Given the description of an element on the screen output the (x, y) to click on. 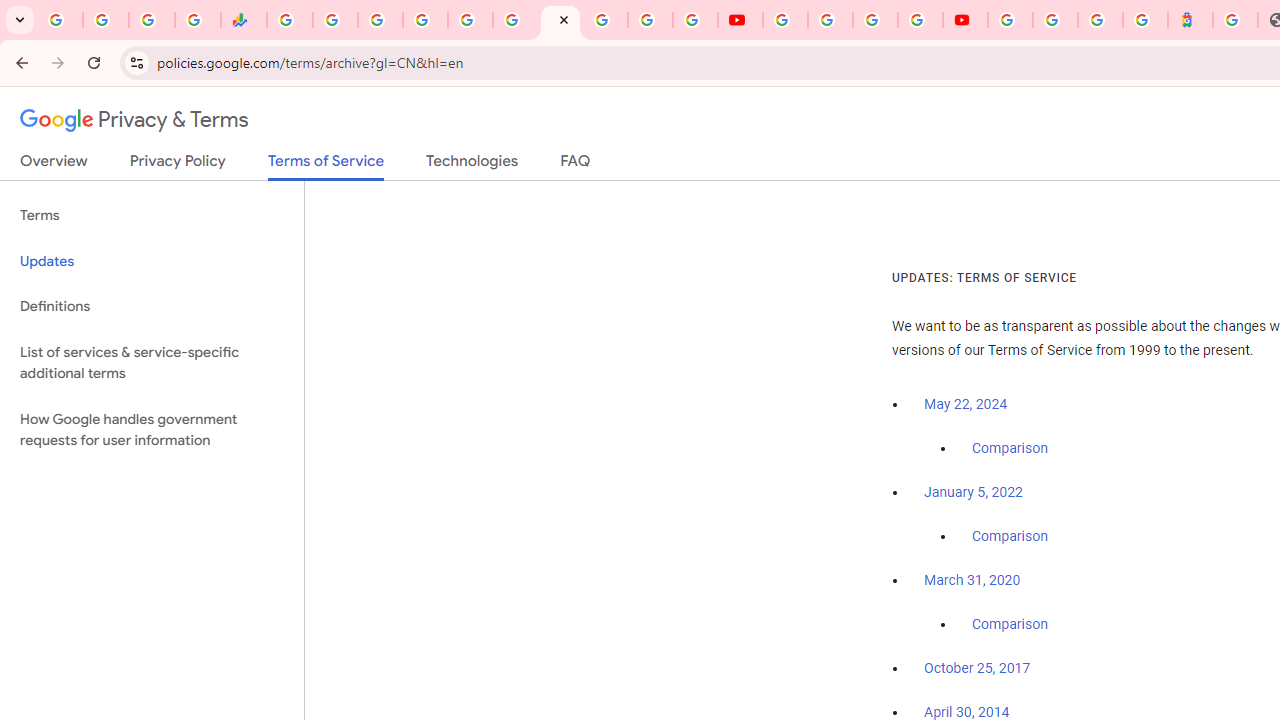
Create your Google Account (875, 20)
